Given the description of an element on the screen output the (x, y) to click on. 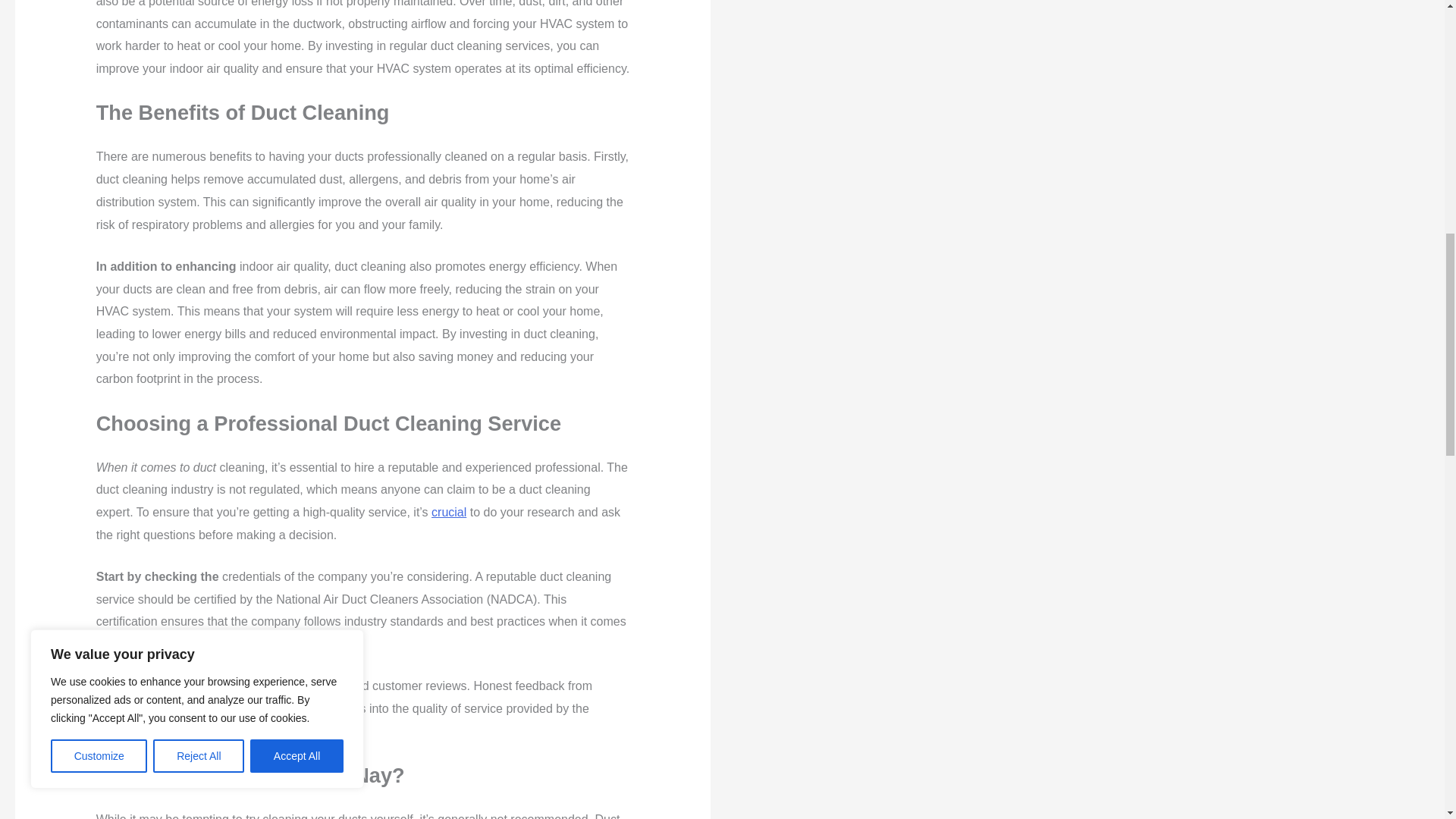
crucial (447, 512)
